Given the description of an element on the screen output the (x, y) to click on. 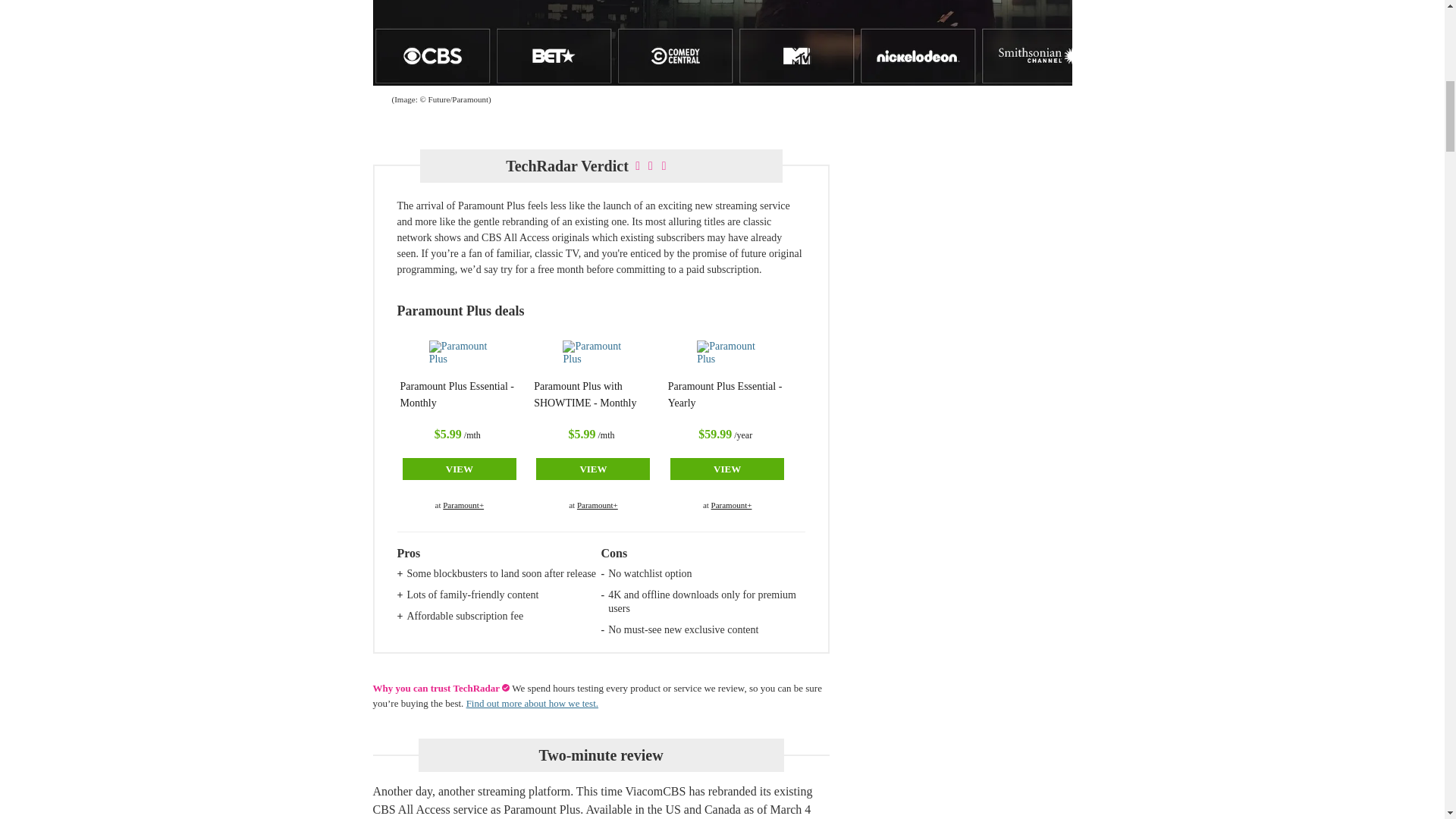
Paramount Plus (727, 355)
Paramount Plus (459, 355)
Paramount Plus (592, 355)
